Given the description of an element on the screen output the (x, y) to click on. 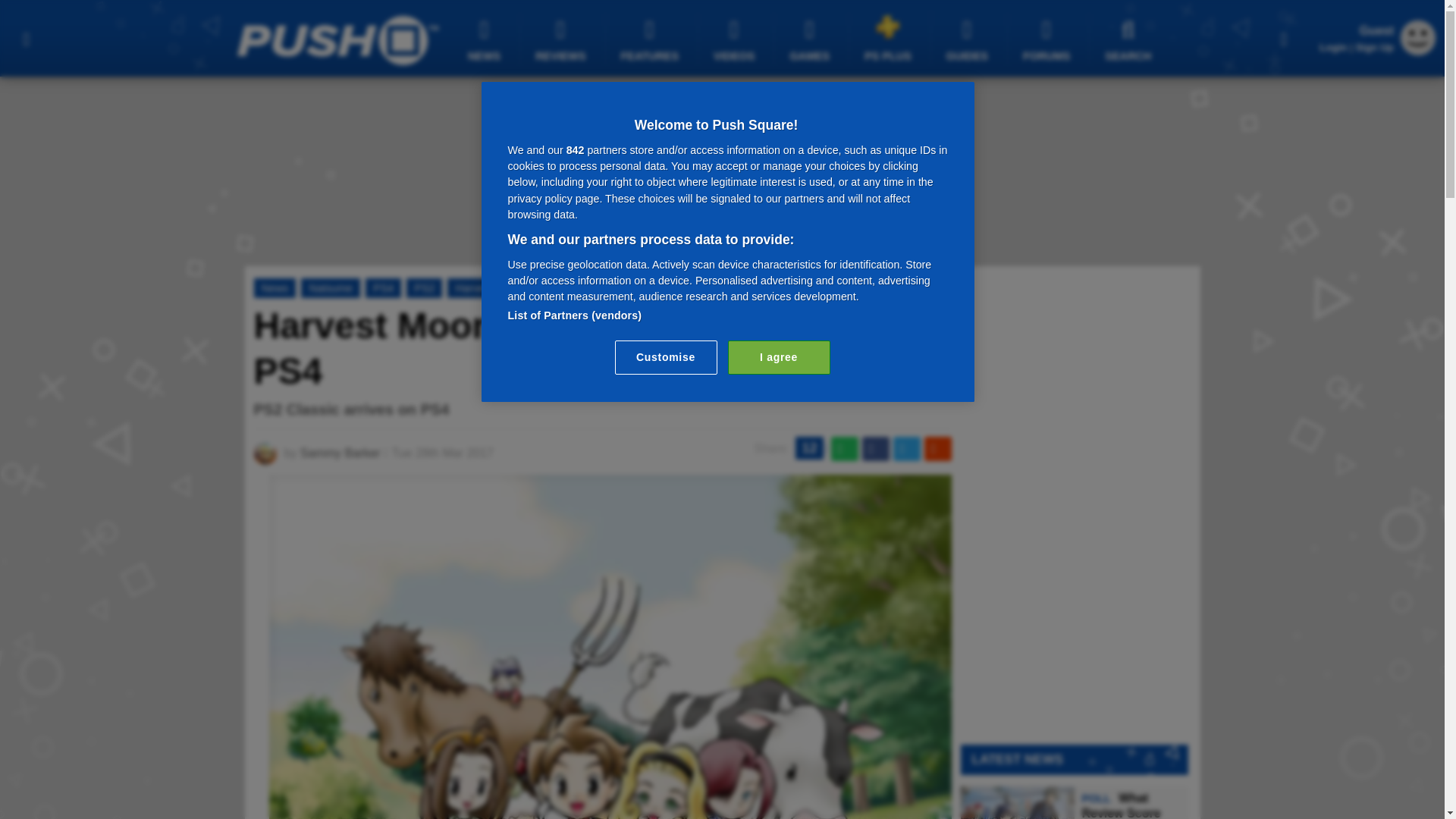
Guest (1417, 37)
GUIDES (969, 39)
PS PLUS (889, 38)
SEARCH (1129, 39)
REVIEWS (562, 39)
FEATURES (651, 39)
Sign Up (1374, 47)
Share This Page (1283, 37)
Push Square (336, 40)
Push Square (336, 40)
GAMES (811, 39)
VIDEOS (736, 39)
Guest (1417, 51)
FORUMS (1048, 39)
Login (1332, 47)
